Given the description of an element on the screen output the (x, y) to click on. 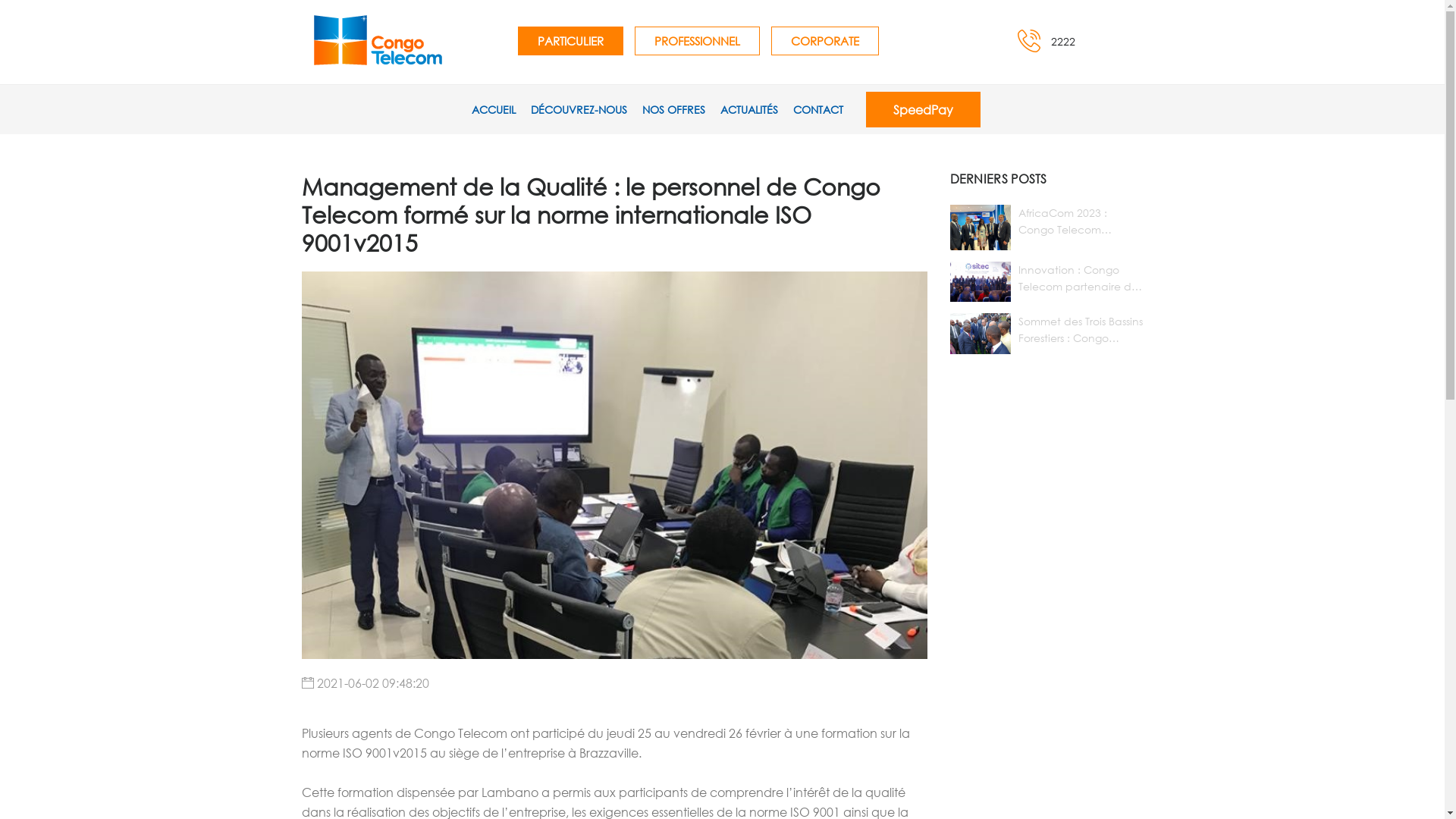
SpeedPay Element type: text (923, 109)
PARTICULIER Element type: text (569, 39)
CONTACT Element type: text (817, 109)
CORPORATE Element type: text (824, 39)
ACCUEIL Element type: text (493, 109)
NOS OFFRES Element type: text (673, 109)
PROFESSIONNEL Element type: text (696, 39)
